Given the description of an element on the screen output the (x, y) to click on. 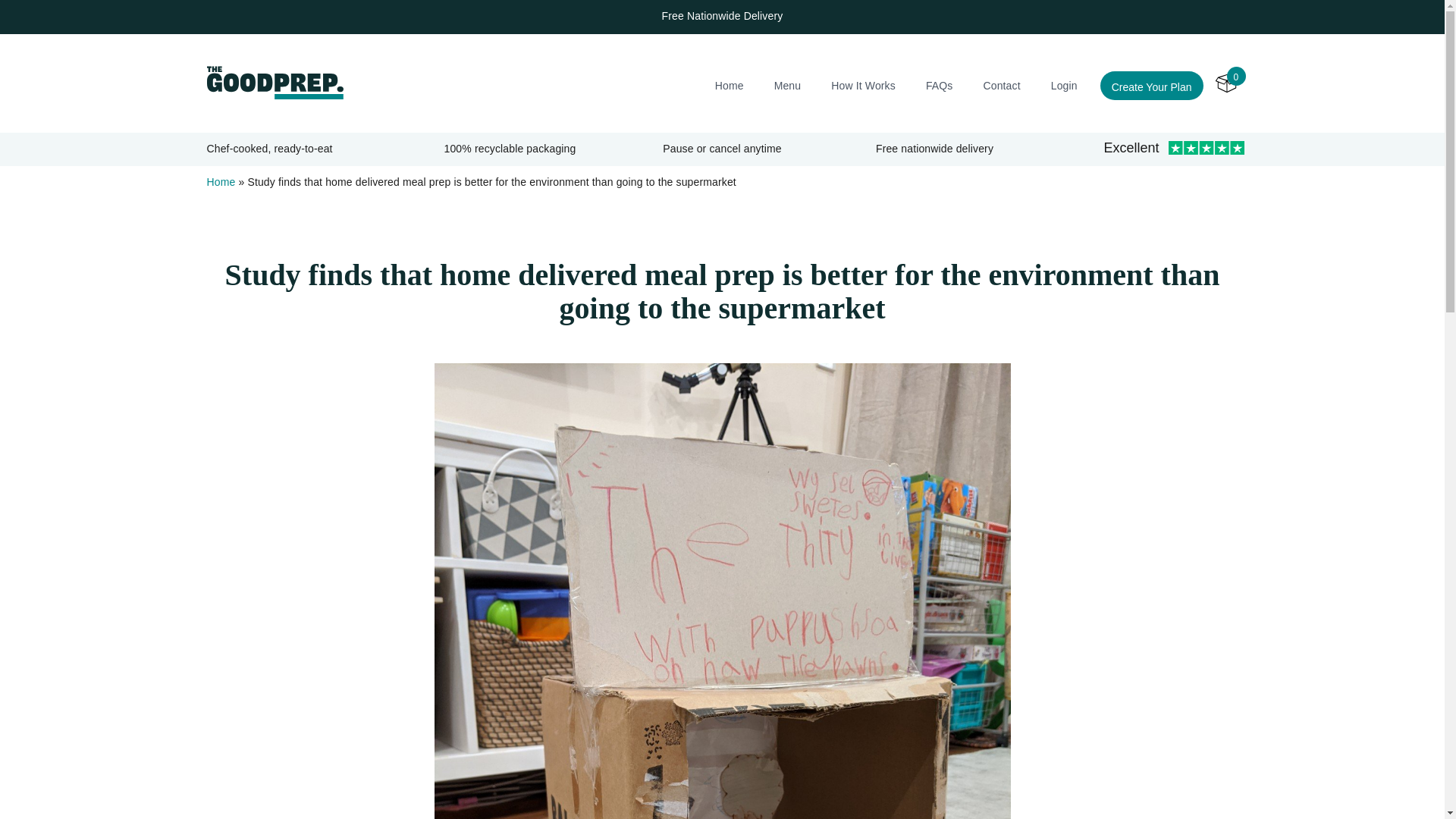
Create Your Plan (1152, 85)
Customer reviews powered by Trustpilot (1172, 149)
Contact (1001, 84)
Menu (788, 84)
FAQs (939, 84)
Home (729, 84)
Login (1063, 84)
0 (1225, 83)
Home (220, 182)
How It Works (863, 84)
Free Nationwide Delivery (722, 15)
